Given the description of an element on the screen output the (x, y) to click on. 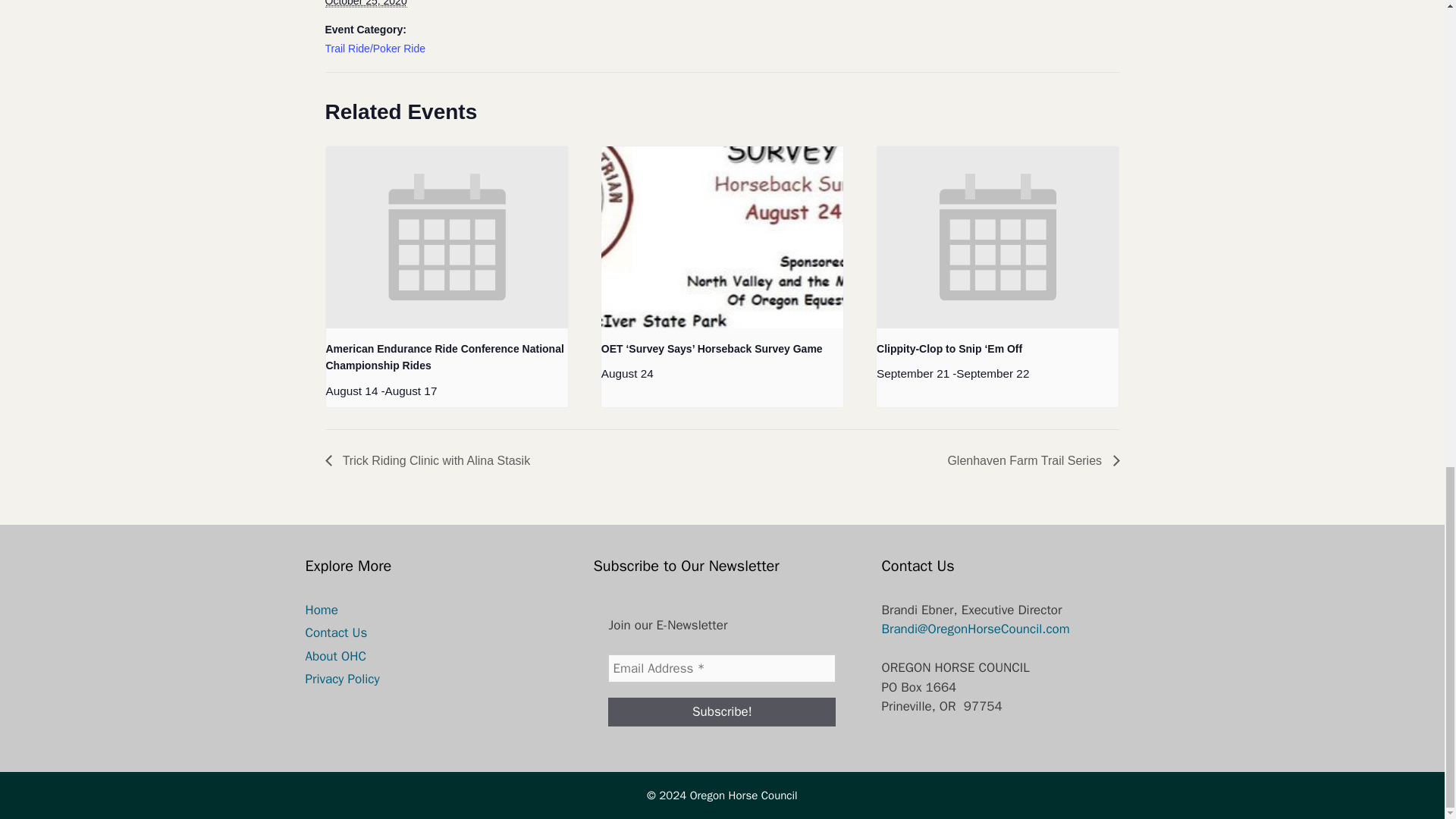
Subscribe! (721, 711)
Email Address (721, 668)
Scroll back to top (1406, 442)
2020-10-25 (365, 3)
